Given the description of an element on the screen output the (x, y) to click on. 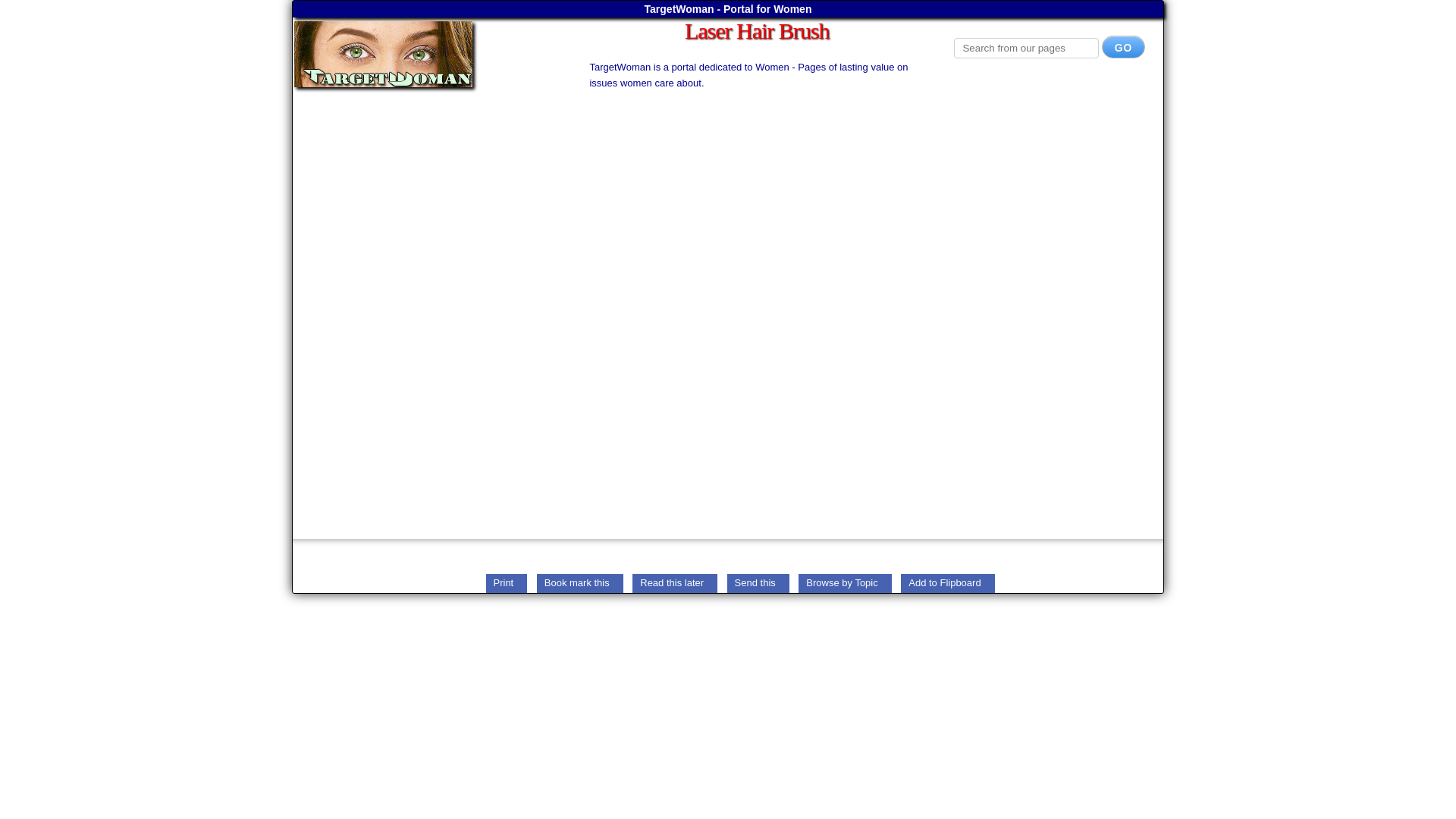
Add to Flipboard (947, 581)
Go (1123, 47)
Go (1123, 47)
Send this (757, 581)
Browse by Topic (844, 581)
Print (505, 581)
TargetWoman - Informative Portal for Women (425, 53)
Book mark this (580, 581)
Read this later (674, 581)
